Given the description of an element on the screen output the (x, y) to click on. 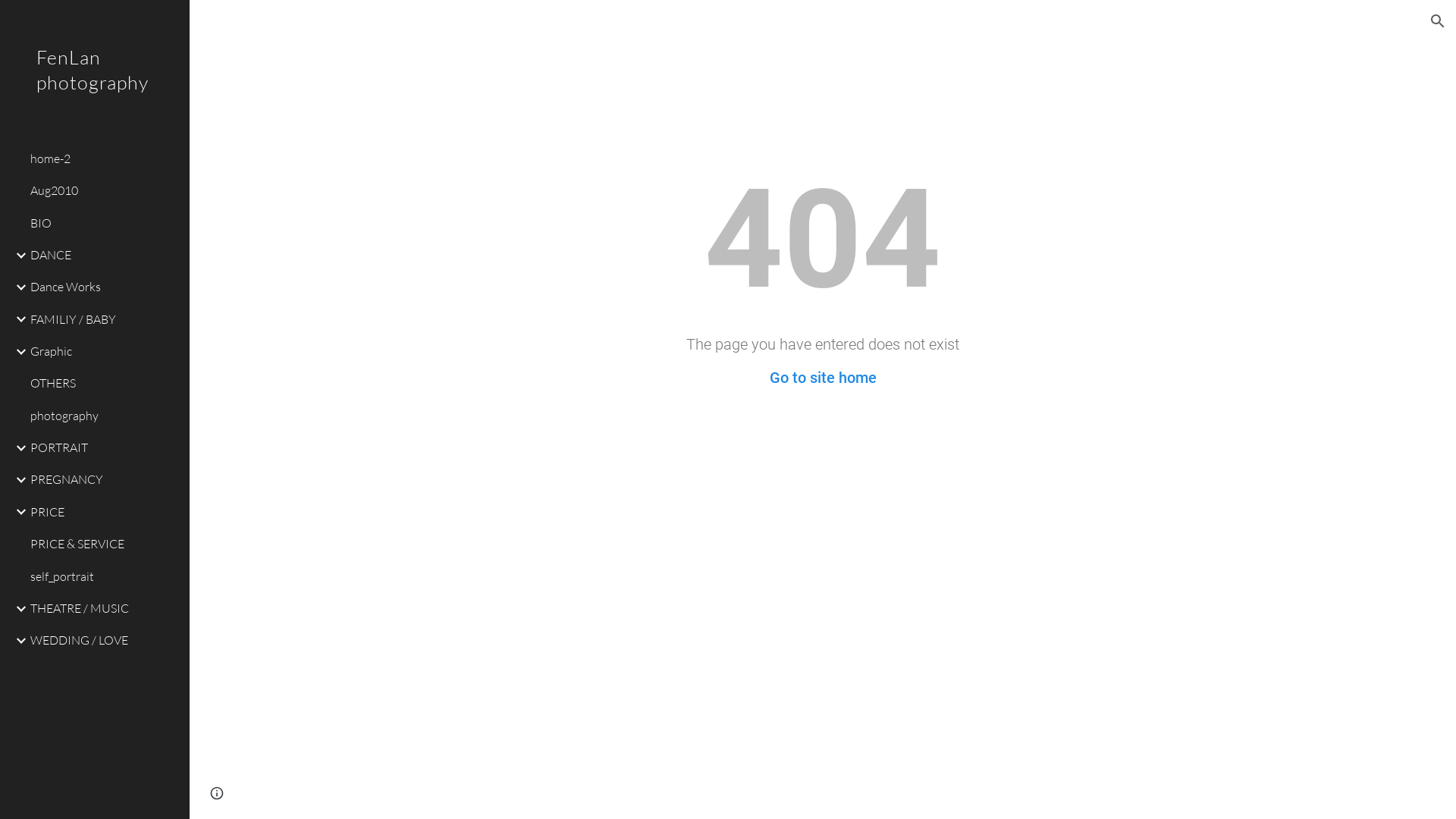
Expand/Collapse Element type: hover (16, 319)
home-2 Element type: text (103, 158)
Graphic Element type: text (103, 351)
Expand/Collapse Element type: hover (16, 287)
PORTRAIT Element type: text (103, 448)
PREGNANCY Element type: text (103, 479)
Expand/Collapse Element type: hover (16, 255)
THEATRE / MUSIC Element type: text (103, 608)
Dance Works Element type: text (103, 287)
DANCE Element type: text (103, 254)
Expand/Collapse Element type: hover (16, 351)
OTHERS Element type: text (103, 383)
Go to site home Element type: text (821, 377)
Expand/Collapse Element type: hover (16, 448)
Expand/Collapse Element type: hover (16, 608)
Aug2010 Element type: text (103, 191)
PRICE & SERVICE Element type: text (103, 544)
Expand/Collapse Element type: hover (16, 479)
FenLan photography Element type: text (94, 89)
Expand/Collapse Element type: hover (16, 511)
BIO Element type: text (103, 222)
WEDDING / LOVE Element type: text (103, 640)
Expand/Collapse Element type: hover (16, 640)
FAMILIY / BABY Element type: text (103, 319)
photography Element type: text (103, 415)
PRICE Element type: text (103, 511)
self_portrait Element type: text (103, 576)
